Given the description of an element on the screen output the (x, y) to click on. 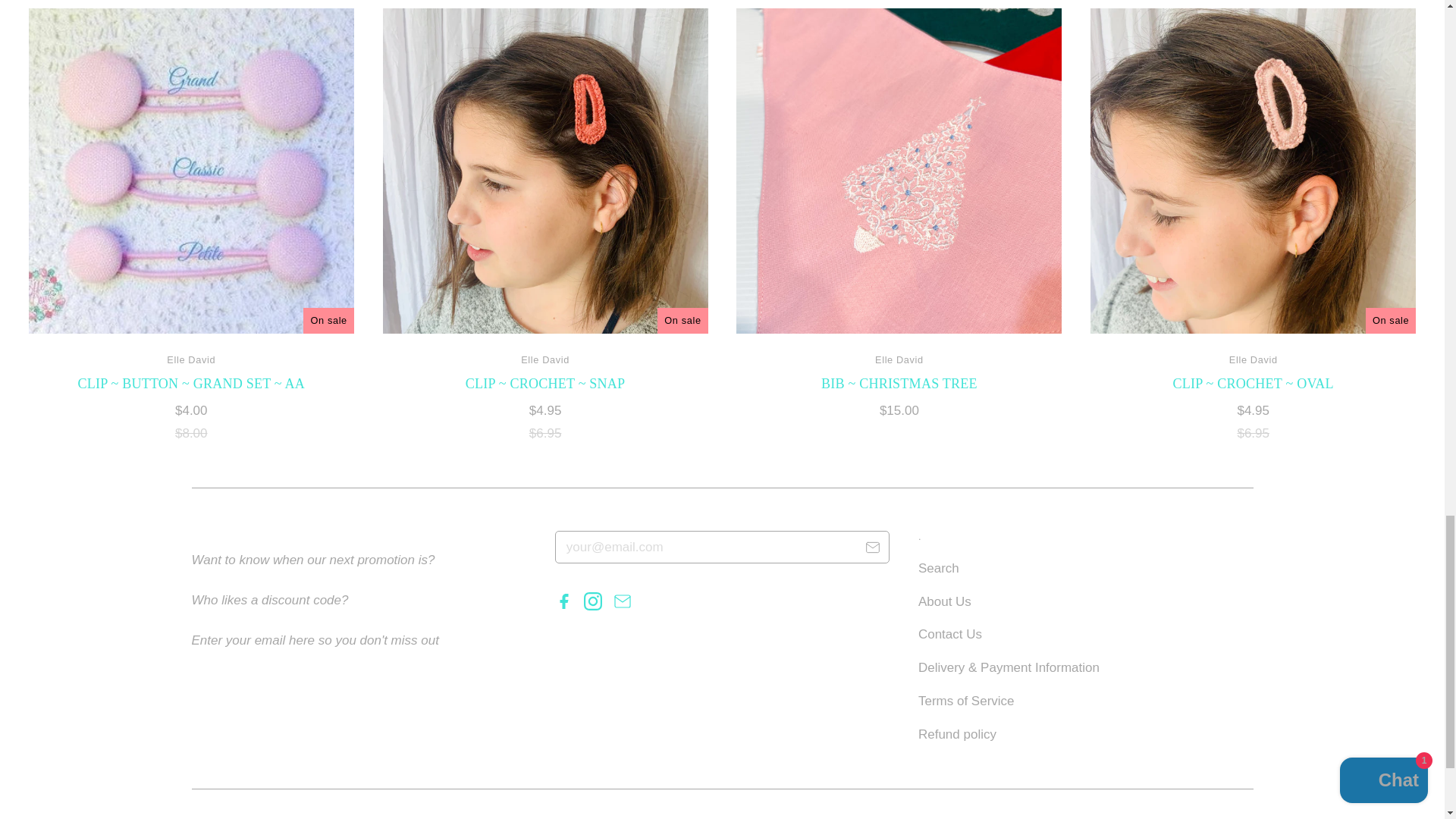
Elle David (1253, 359)
Elle David (191, 359)
Elle David (899, 359)
Elle David (545, 359)
